Given the description of an element on the screen output the (x, y) to click on. 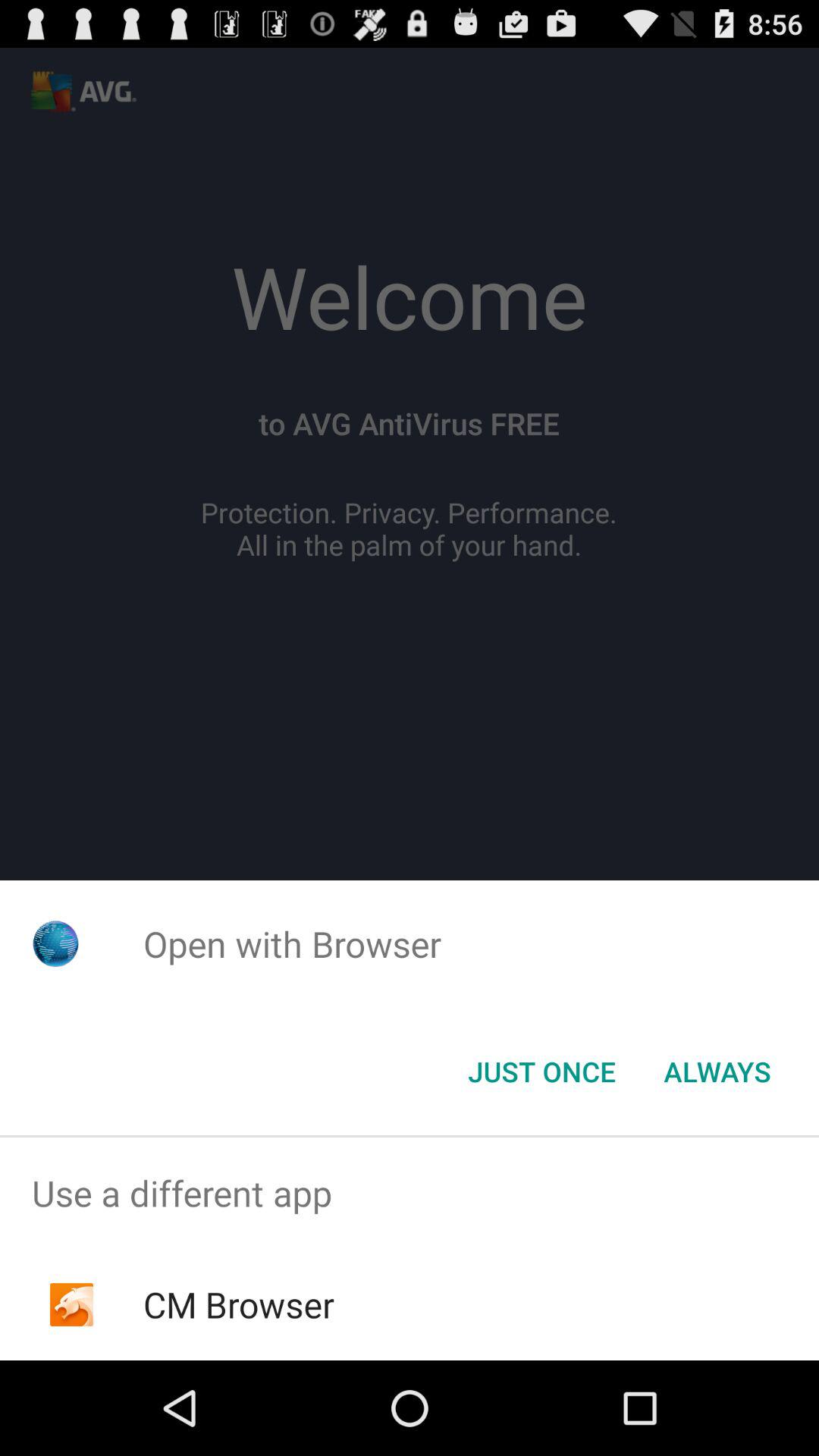
select the cm browser (238, 1304)
